Given the description of an element on the screen output the (x, y) to click on. 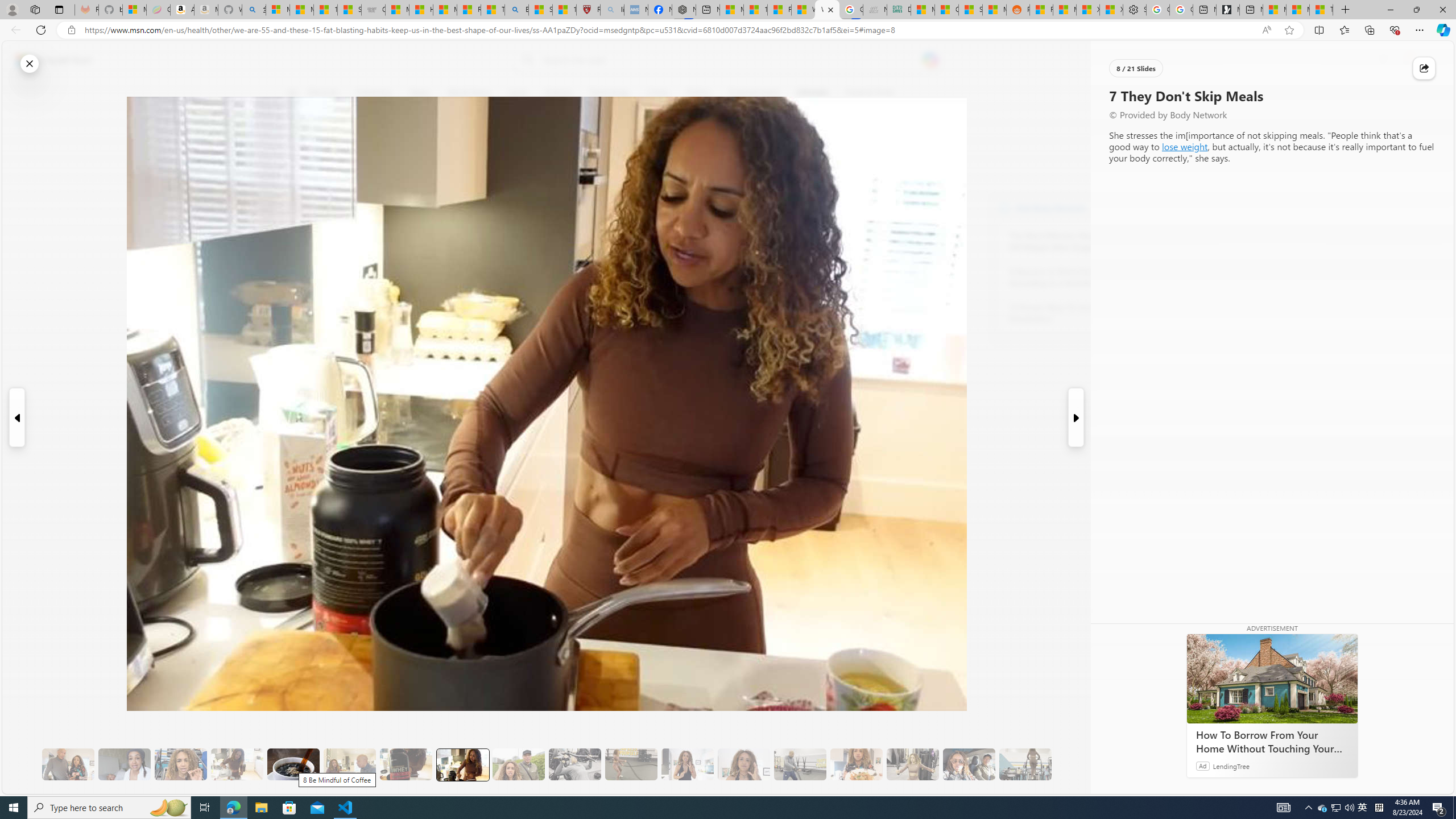
Visit Body Network website (1145, 207)
Read aloud this page (Ctrl+Shift+U) (1266, 29)
16 The Couple's Program Helps with Accountability (968, 764)
Start the conversation (299, 202)
Next Slide (1076, 417)
Tab actions menu (58, 9)
Class: at-item immersive (1423, 68)
Notifications (1405, 60)
Split screen (1318, 29)
Settings and more (Alt+F) (1419, 29)
